Given the description of an element on the screen output the (x, y) to click on. 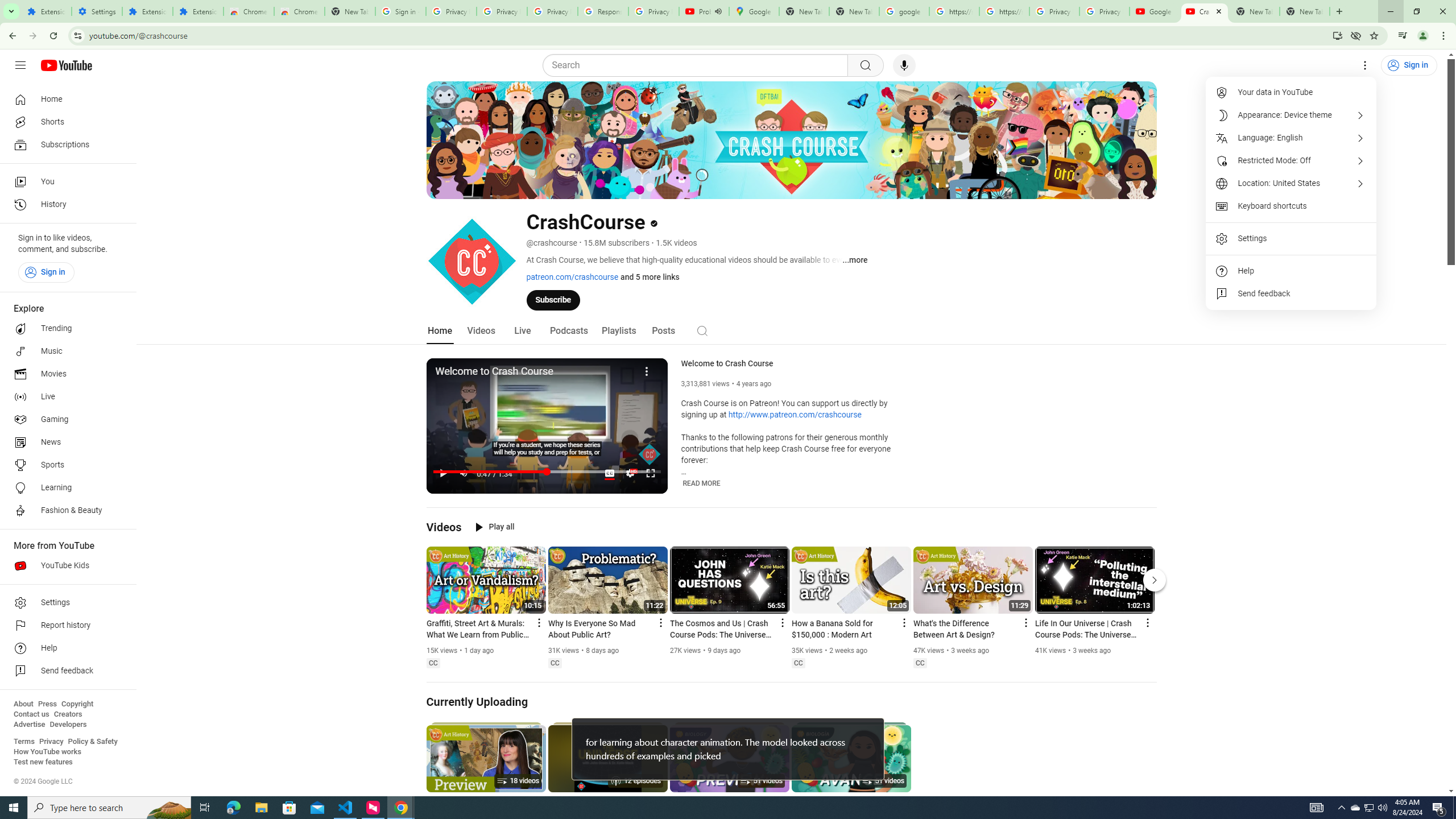
Live (521, 330)
